Given the description of an element on the screen output the (x, y) to click on. 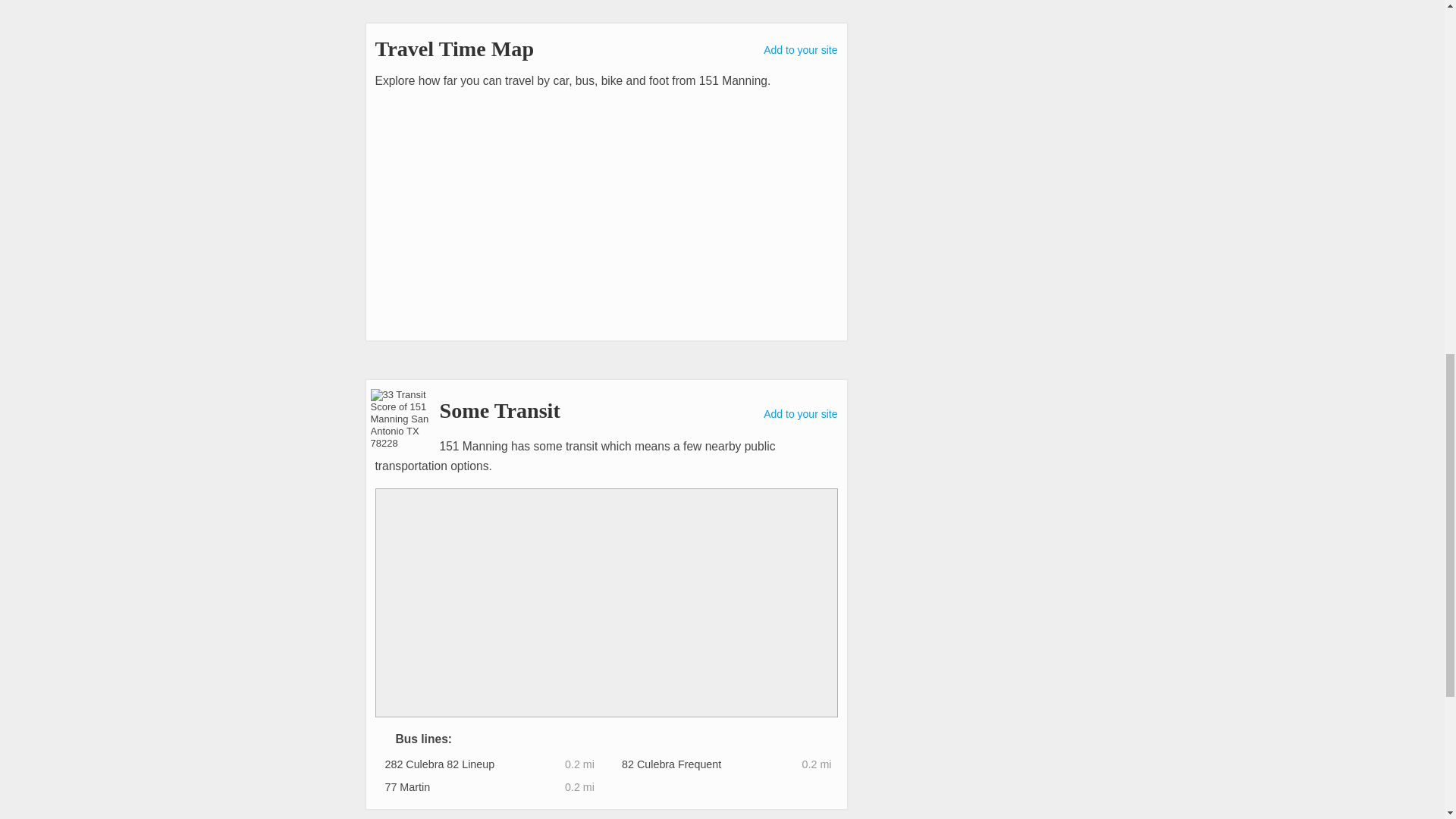
Add to your site (799, 413)
Add to your site (799, 50)
